Given the description of an element on the screen output the (x, y) to click on. 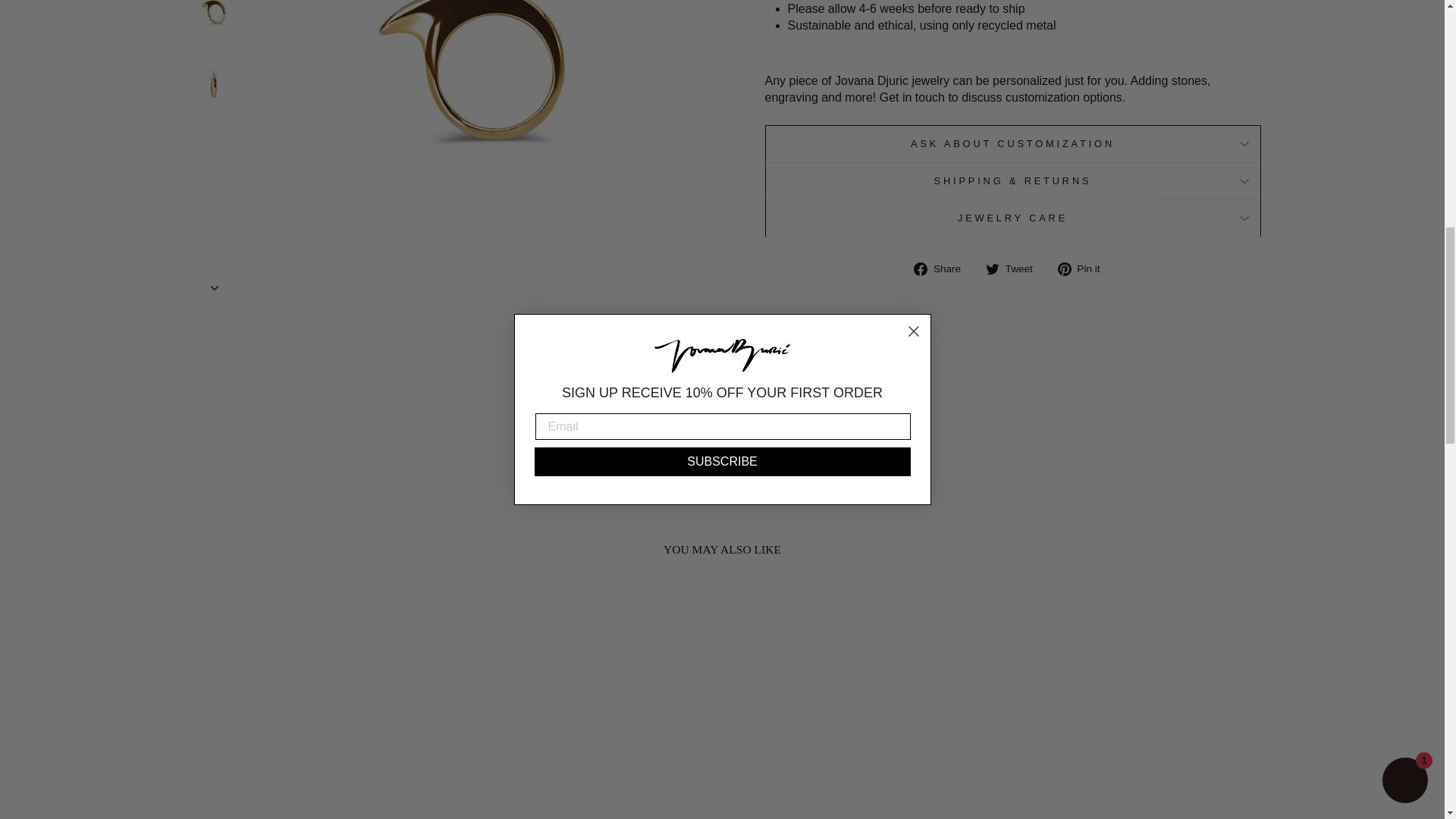
Share on Facebook (943, 268)
twitter (991, 269)
Pin on Pinterest (1085, 268)
Tweet on Twitter (1014, 268)
ICON-LEFT-ARROW (662, 409)
